Given the description of an element on the screen output the (x, y) to click on. 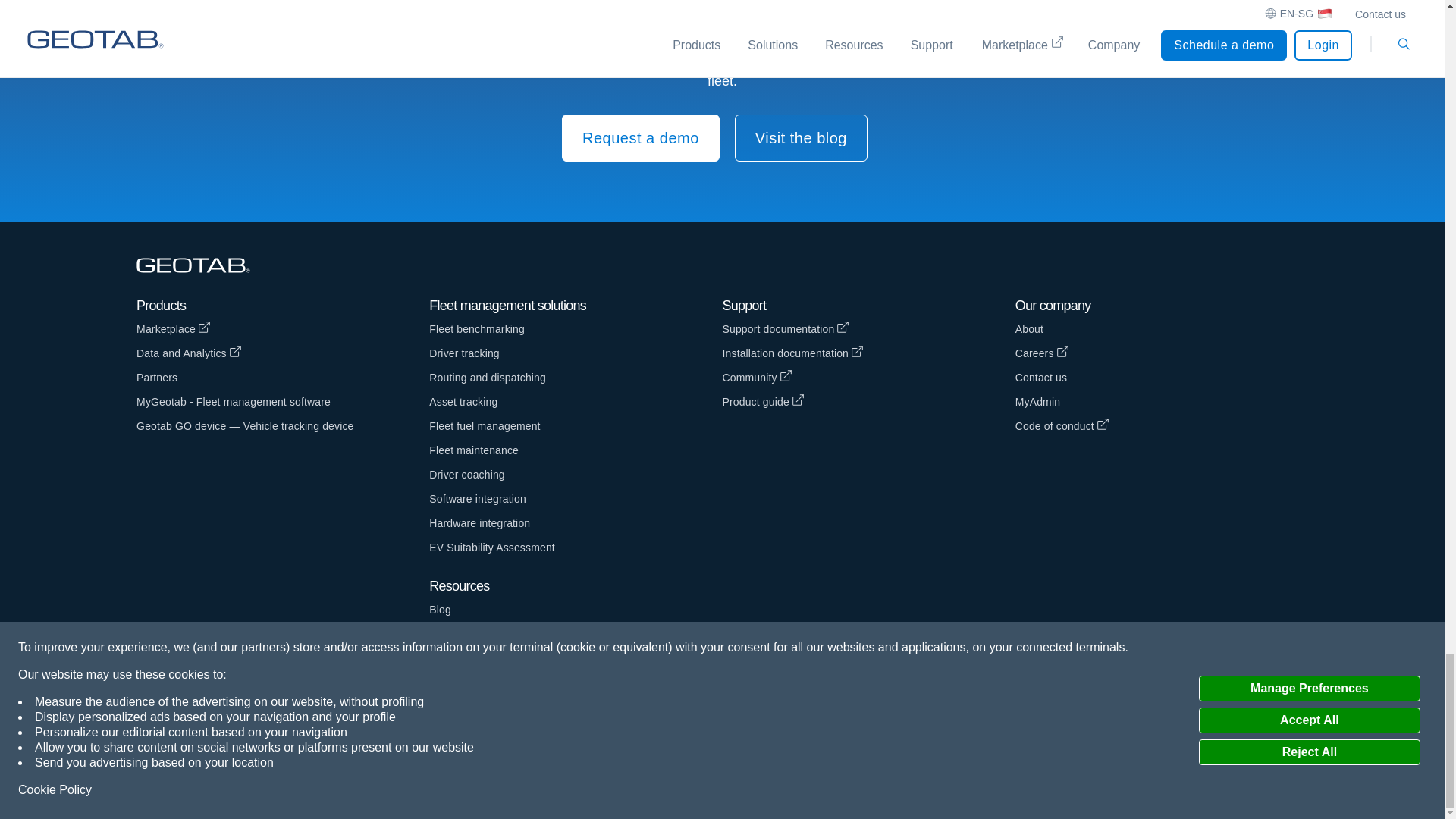
This link may open in a new tab (282, 353)
This link may open in a new tab (868, 353)
This link may open in a new tab (868, 329)
This link may open in a new tab (868, 377)
Go to Homepage (200, 266)
This link may open in a new tab (282, 329)
